Given the description of an element on the screen output the (x, y) to click on. 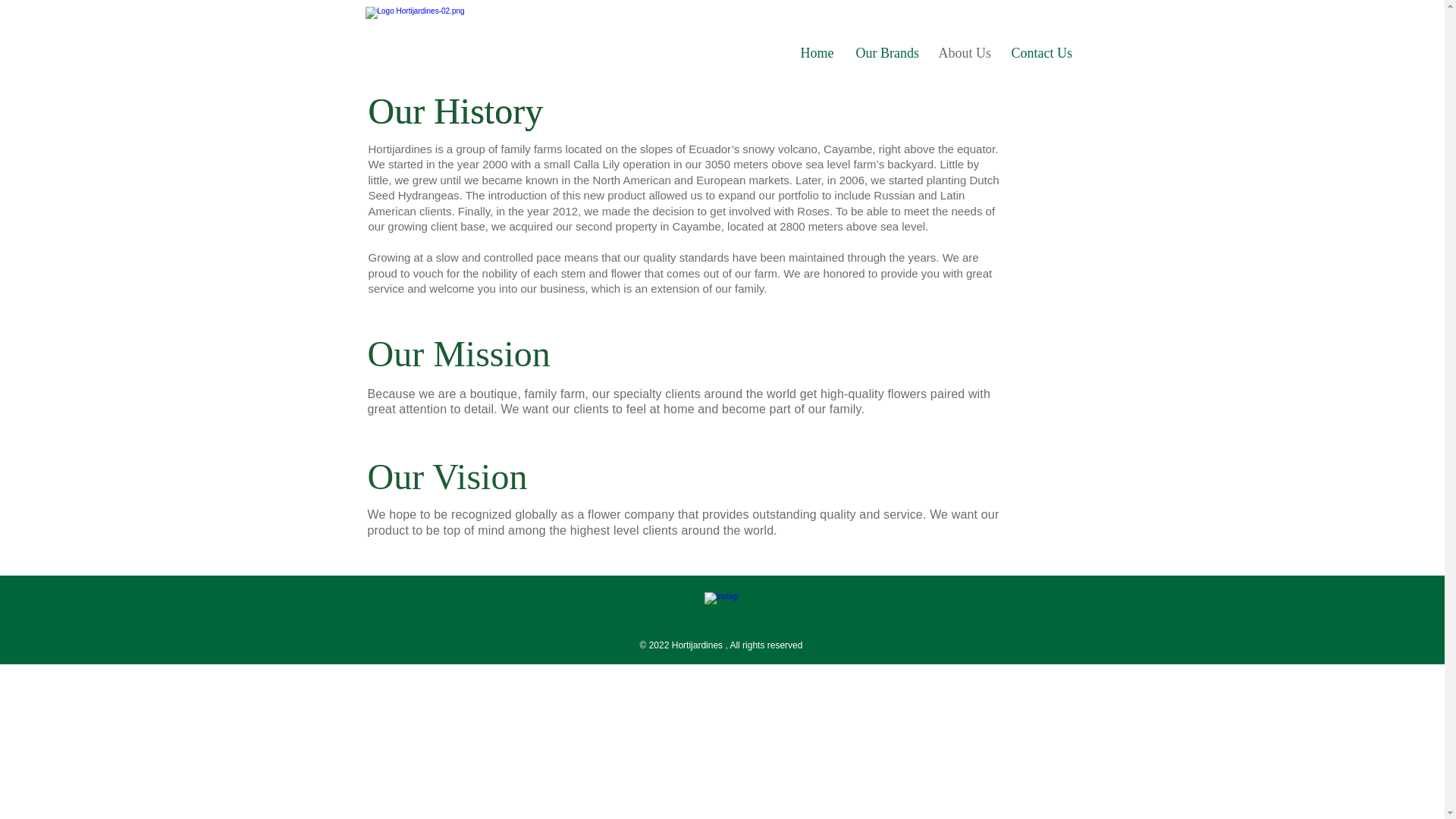
Logo Hortijardines-03.jpg (467, 36)
Home (816, 51)
About Us (962, 51)
Contact Us (1039, 51)
Our Brands (885, 51)
